Given the description of an element on the screen output the (x, y) to click on. 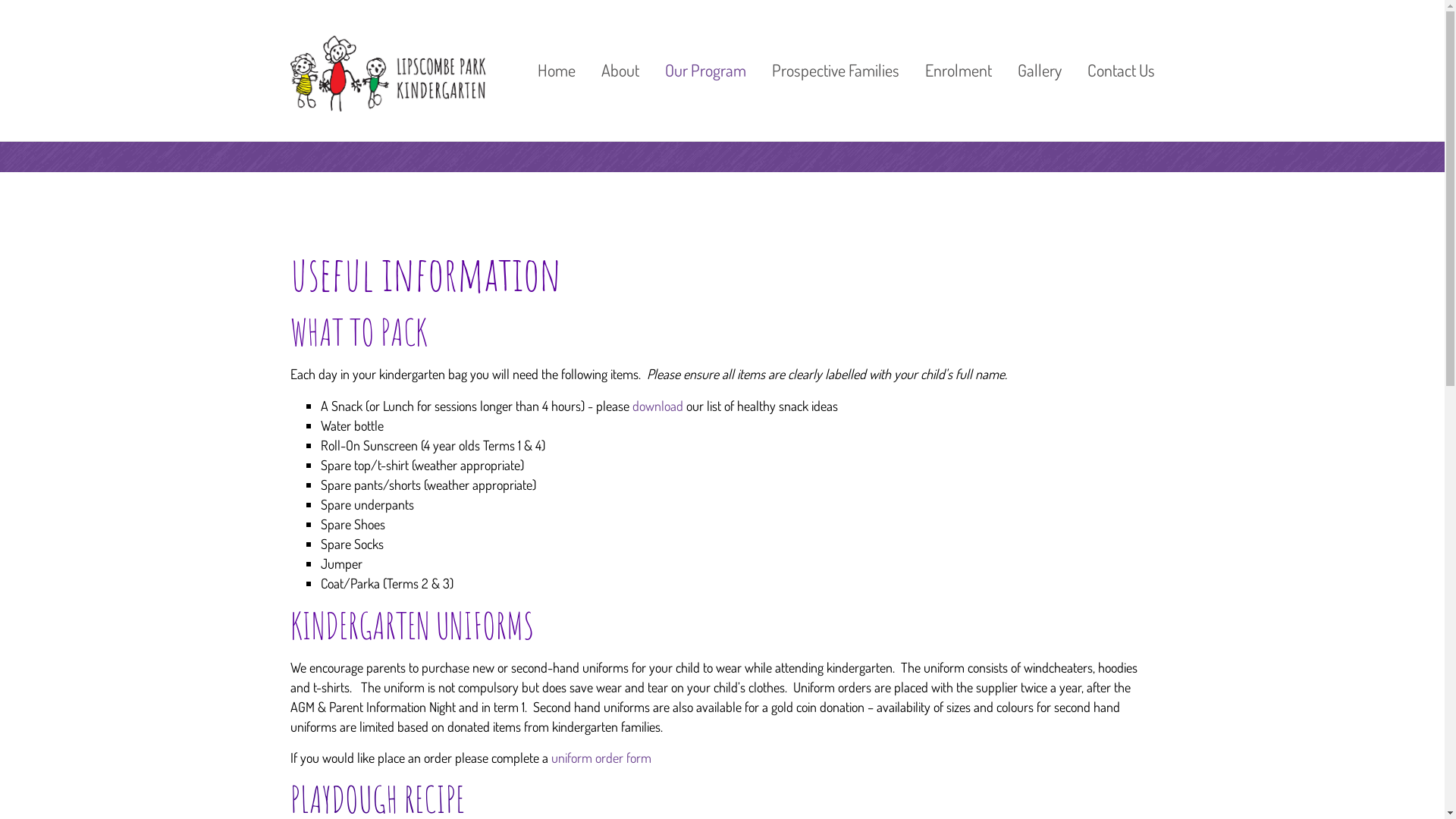
Our Program Element type: text (705, 69)
uniform order form Element type: text (600, 757)
Prospective Families Element type: text (834, 69)
download Element type: text (659, 405)
Gallery Element type: text (1038, 69)
Enrolment Element type: text (957, 69)
Home Element type: text (556, 69)
About Element type: text (619, 69)
Contact Us Element type: text (1114, 69)
